Given the description of an element on the screen output the (x, y) to click on. 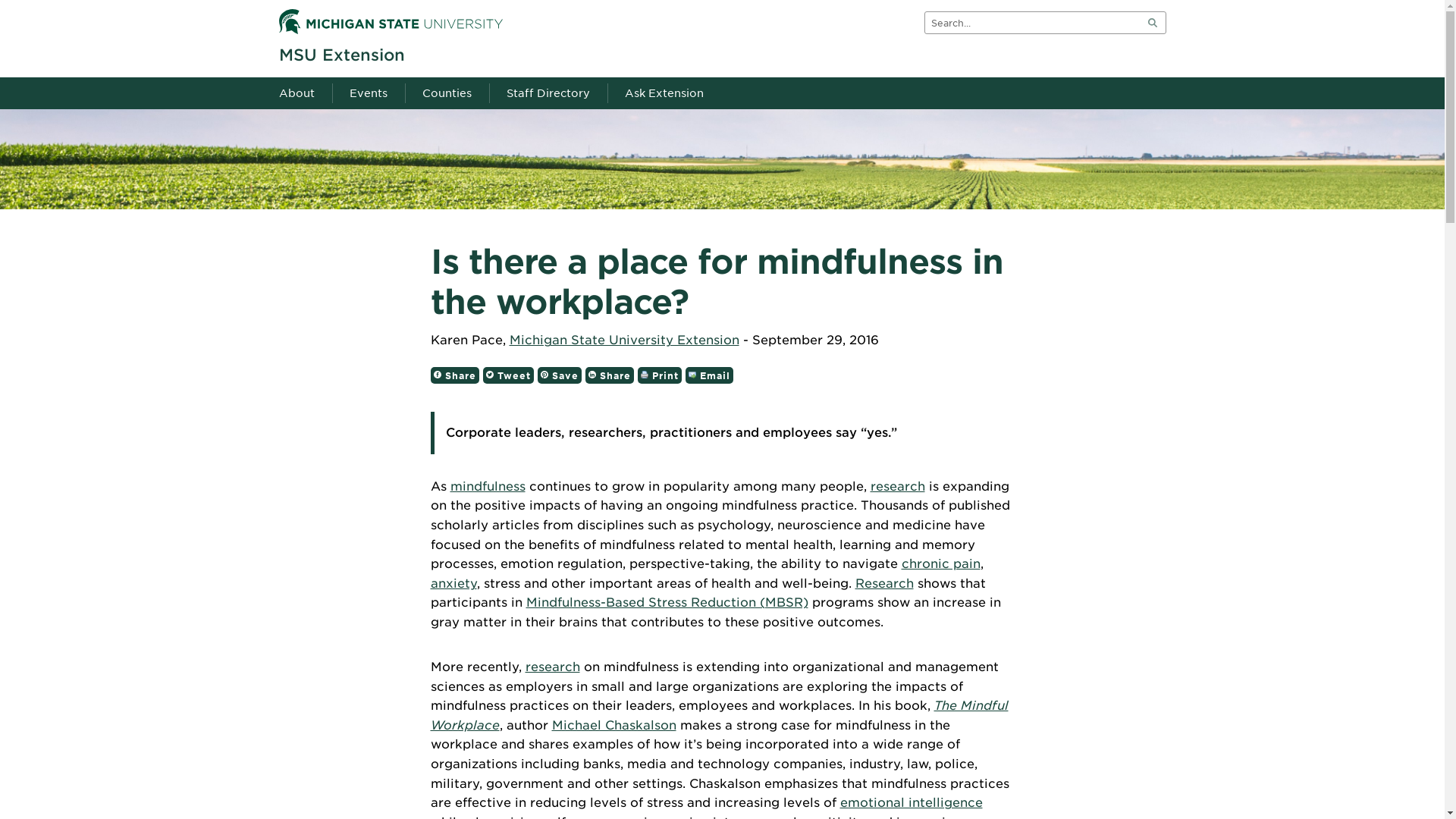
search (1151, 22)
The Mindful Workplace (719, 715)
research (551, 667)
Counties (444, 93)
Tweet (506, 375)
Michigan State University Extension (624, 339)
Michael Chaskalson (614, 725)
MSU Extension (341, 54)
Share (609, 375)
Save (558, 375)
anxiety (453, 583)
Email (709, 375)
chronic pain (940, 563)
Ask Extension (662, 93)
mindfulness (487, 486)
